Given the description of an element on the screen output the (x, y) to click on. 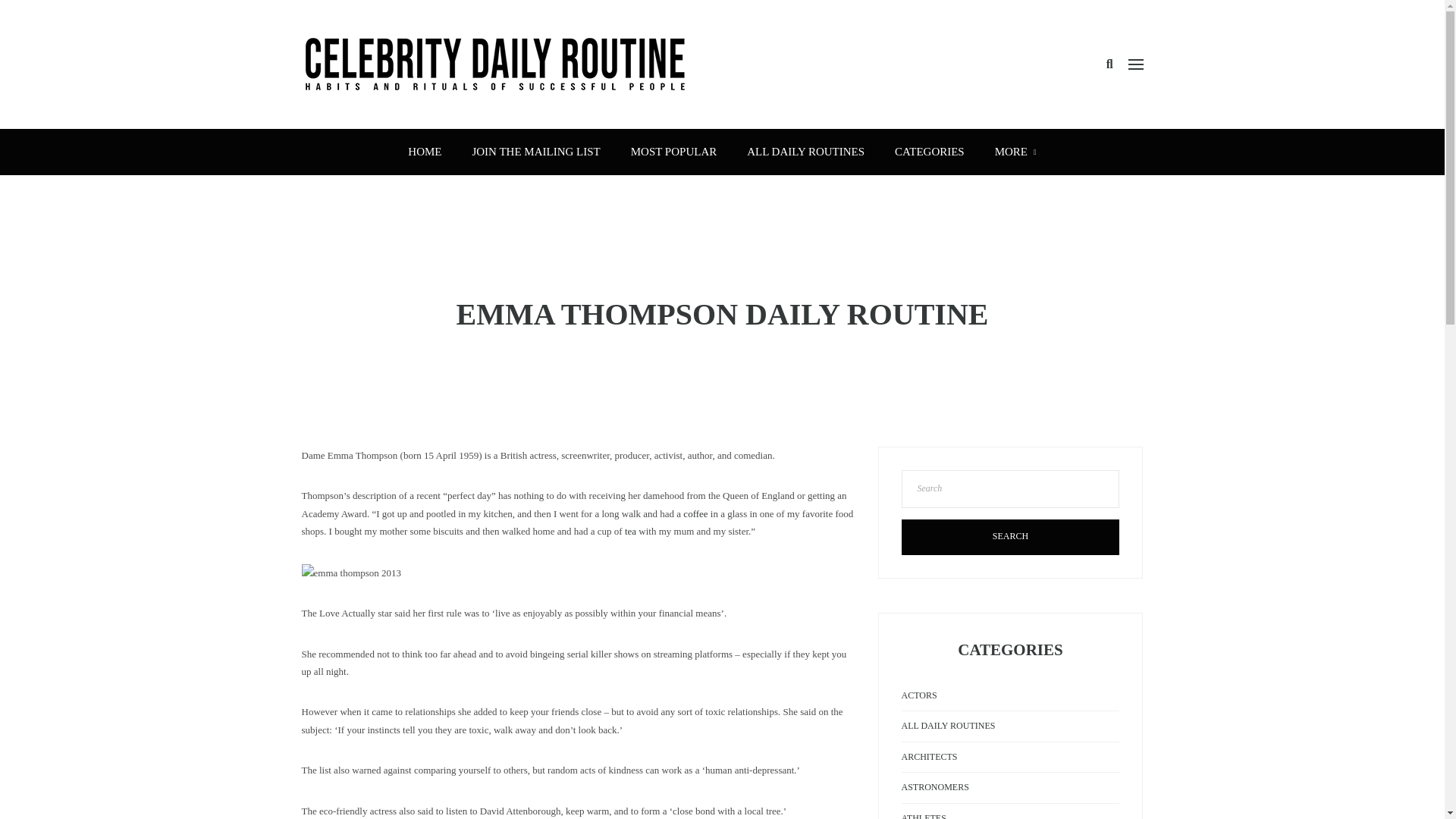
ACTORS (918, 695)
MOST POPULAR (673, 151)
coffee (694, 513)
JOIN THE MAILING LIST (535, 151)
SEARCH (1010, 537)
ALL DAILY ROUTINES (947, 725)
HOME (425, 151)
ASTRONOMERS (934, 787)
ALL DAILY ROUTINES (805, 151)
ARCHITECTS (928, 756)
